Given the description of an element on the screen output the (x, y) to click on. 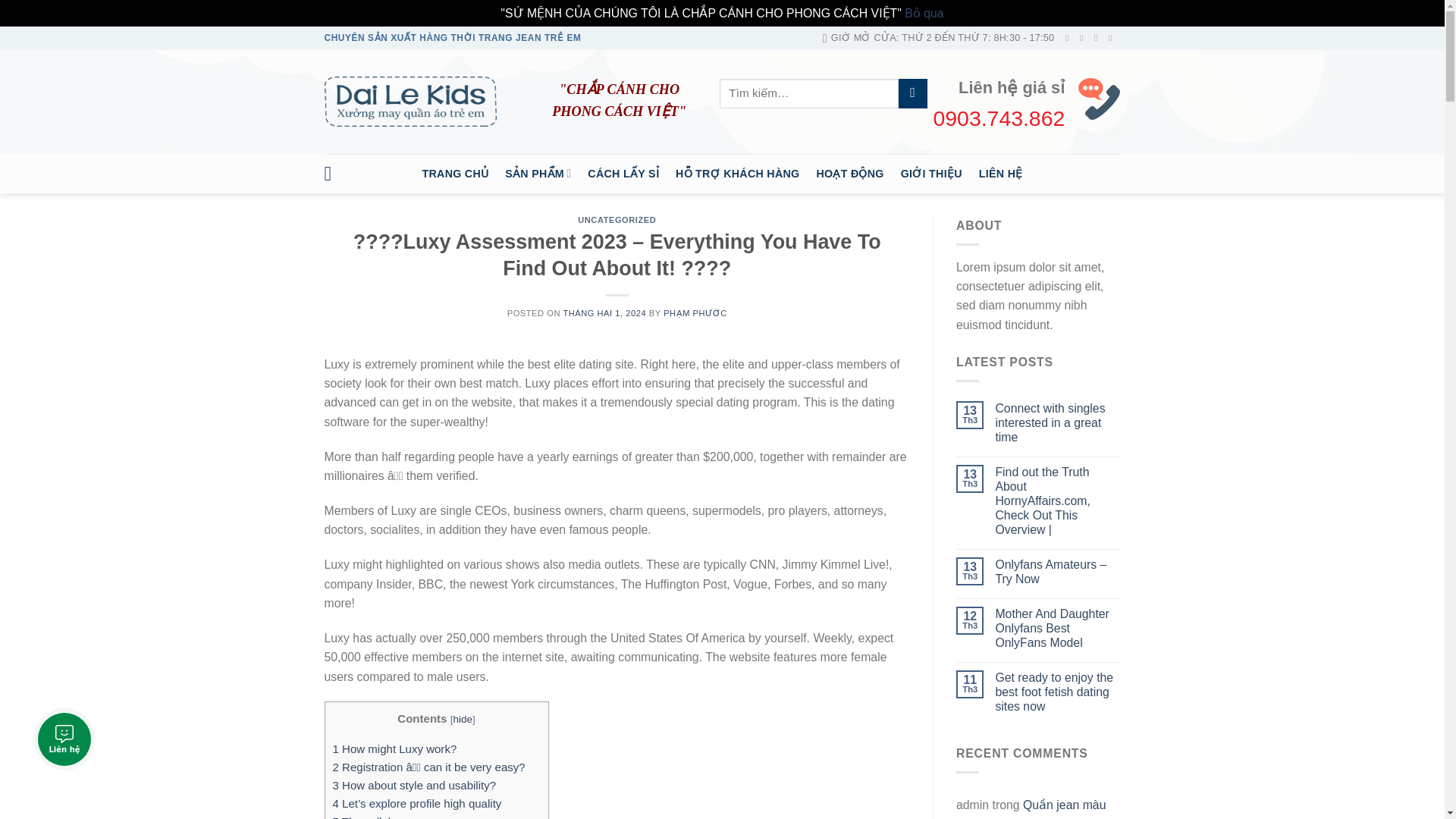
Connect with singles interested in a great time (1056, 422)
5 The cellular program (388, 816)
UNCATEGORIZED (617, 219)
3 How about style and usability? (413, 784)
hide (461, 718)
Get ready to enjoy the best foot fetish dating sites now (1056, 691)
1 How might Luxy work? (394, 748)
Mother And Daughter Onlyfans Best OnlyFans Model (1056, 628)
